Given the description of an element on the screen output the (x, y) to click on. 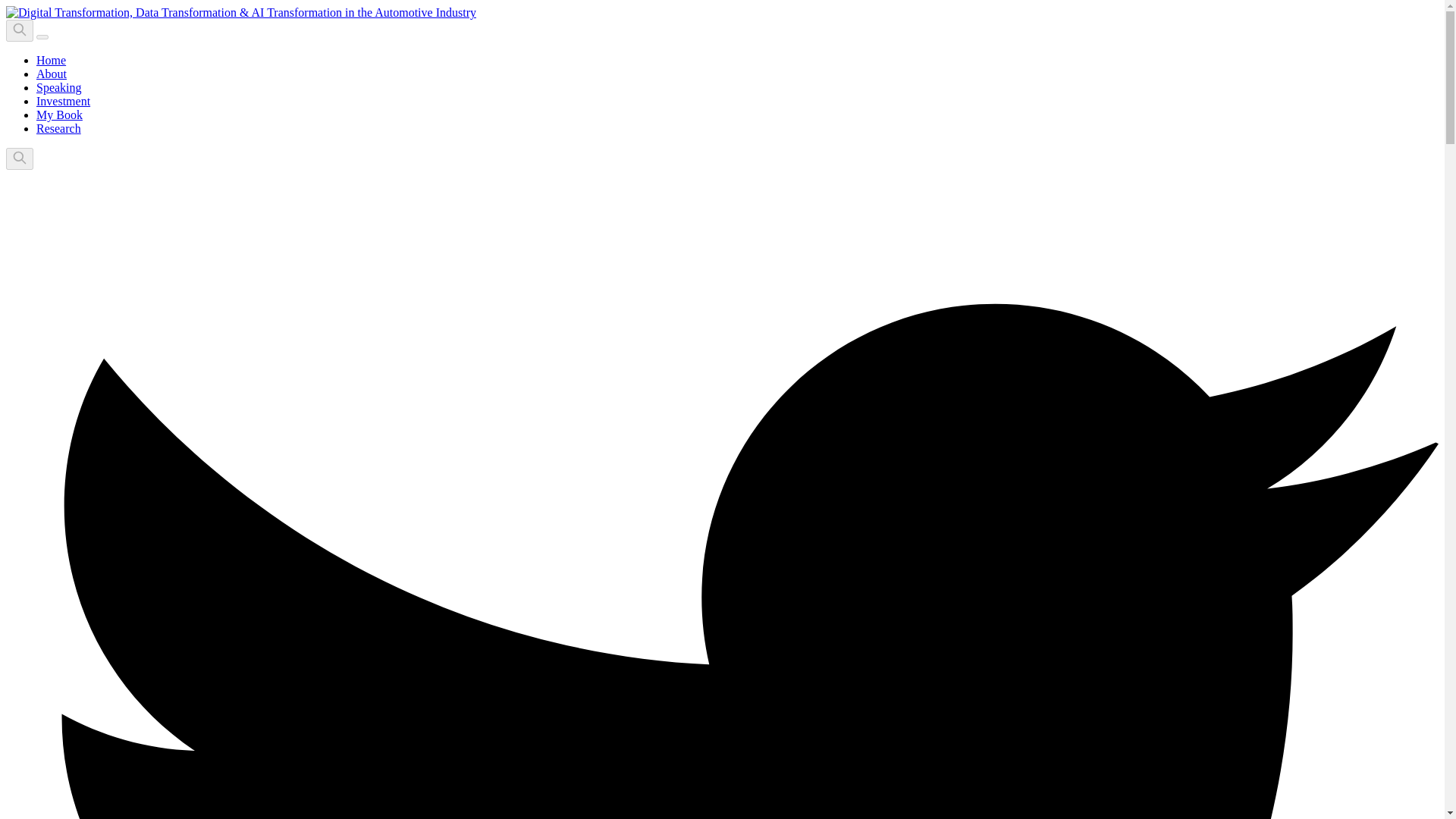
Investment (63, 101)
Research (58, 128)
My Book (59, 114)
Home (50, 60)
Speaking (58, 87)
About (51, 73)
